Given the description of an element on the screen output the (x, y) to click on. 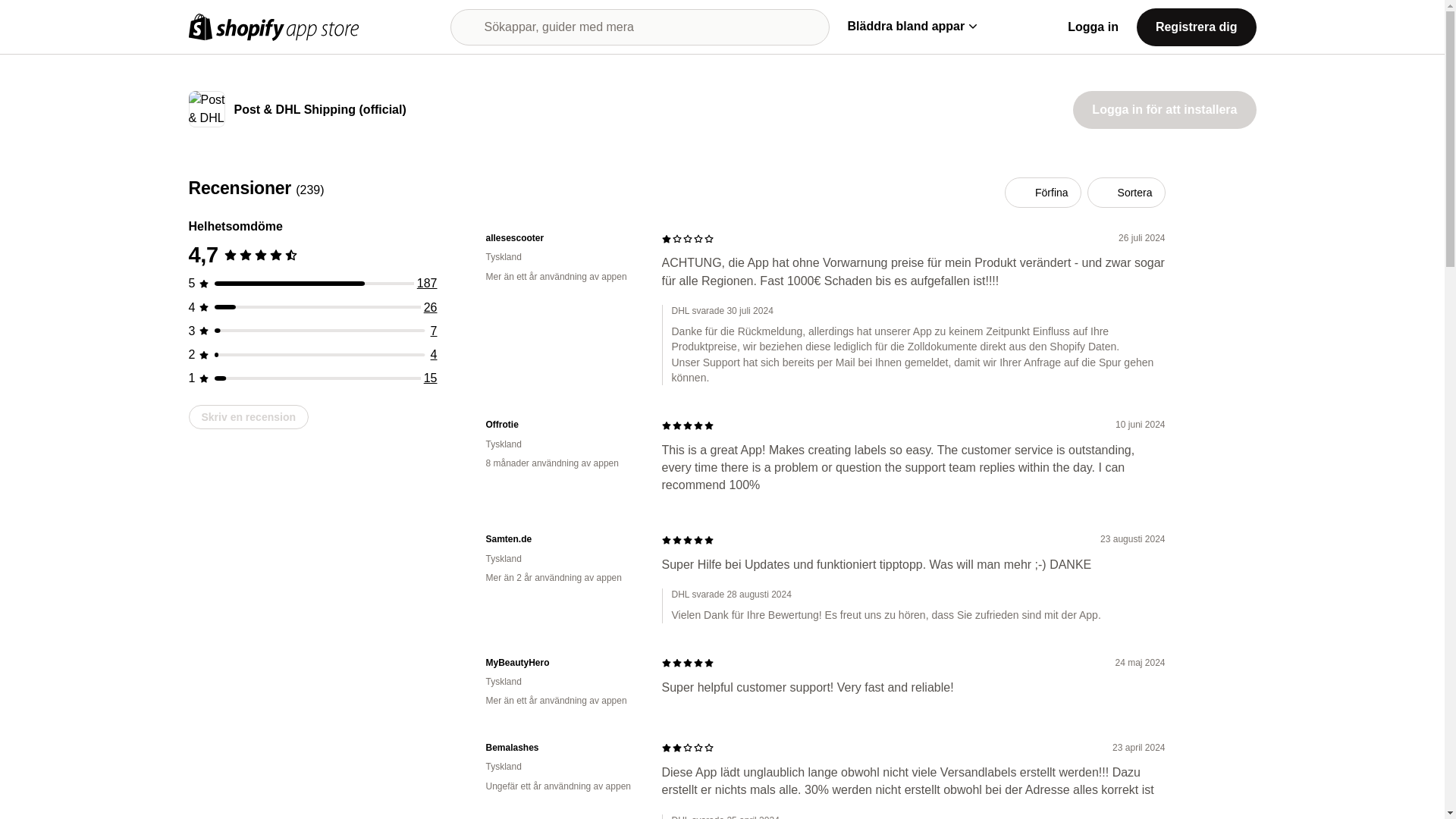
Logga in (1092, 27)
allesescooter (560, 237)
15 (430, 377)
187 (427, 282)
Bemalashes (560, 748)
Samten.de (560, 539)
26 (430, 307)
Skriv en recension (247, 416)
Registrera dig (1196, 26)
MyBeautyHero (560, 662)
